Given the description of an element on the screen output the (x, y) to click on. 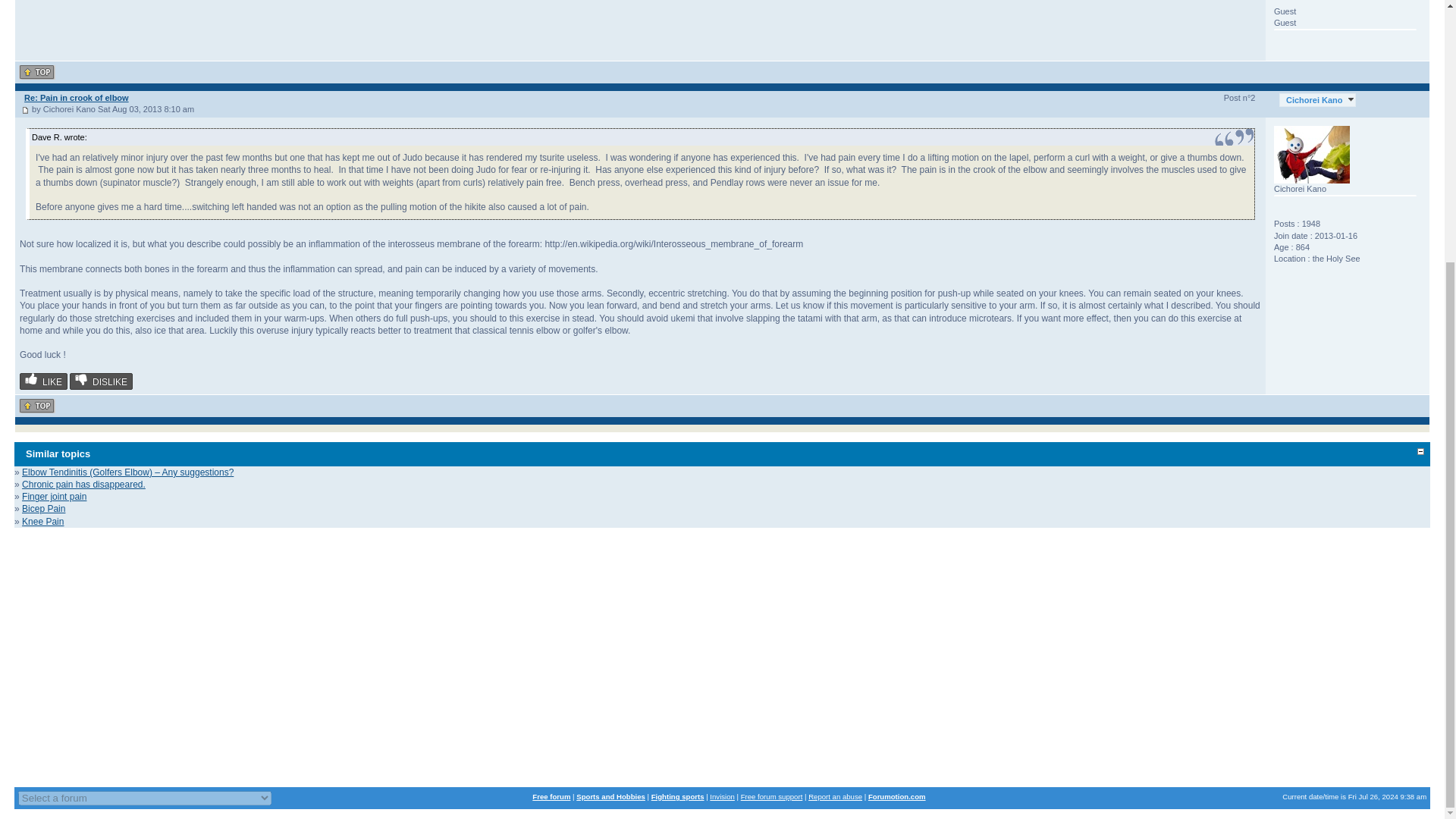
Bicep Pain (43, 508)
Chronic pain has disappeared. (83, 484)
Invision (722, 796)
Chronic pain has disappeared. (83, 484)
Cichorei Kano (1317, 100)
Finger joint pain (53, 496)
Re: Pain in crook of elbow (76, 97)
LIKE (43, 381)
Sports and Hobbies (610, 796)
Finger joint pain (53, 496)
Forumotion.com (896, 796)
Report an abuse (834, 796)
Knee Pain (42, 521)
Fighting sports (677, 796)
Knee Pain (42, 521)
